Given the description of an element on the screen output the (x, y) to click on. 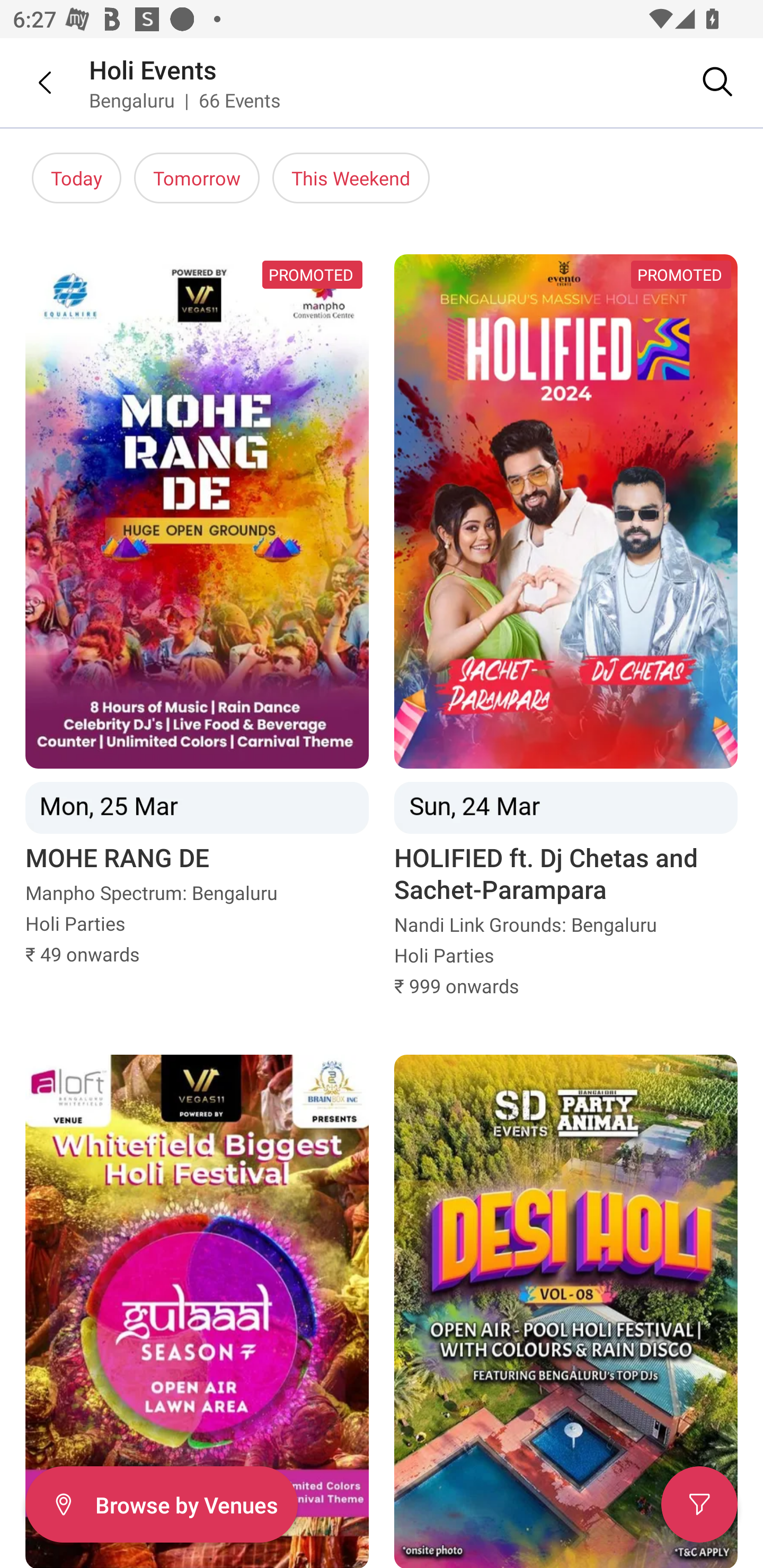
Back (31, 82)
Holi Events (153, 68)
Bengaluru  |  66 Events (185, 99)
Today (76, 177)
Tomorrow (196, 177)
This Weekend (350, 177)
Filter Browse by Venues (161, 1504)
Filter (699, 1504)
